Given the description of an element on the screen output the (x, y) to click on. 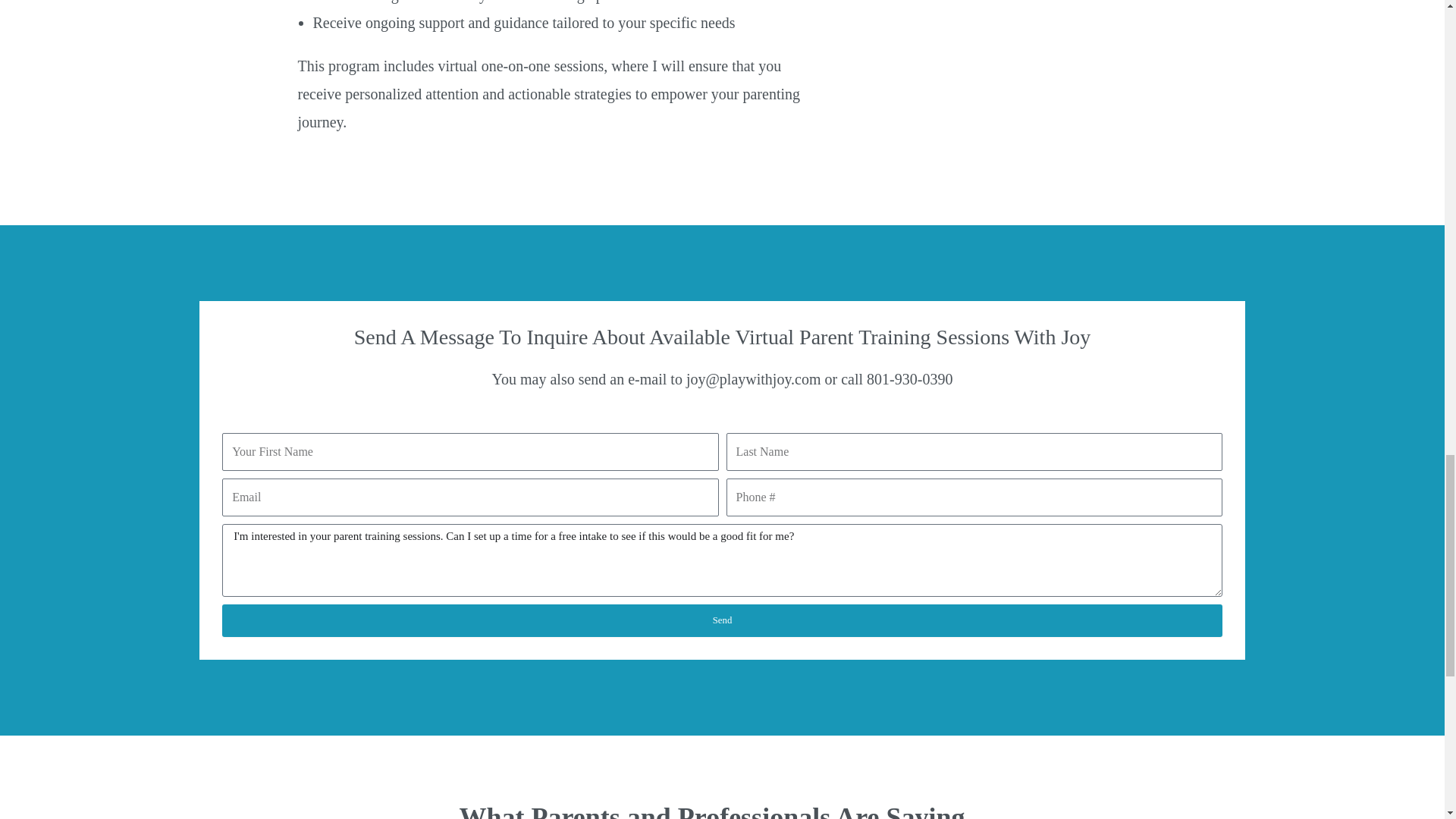
Send (722, 620)
